Given the description of an element on the screen output the (x, y) to click on. 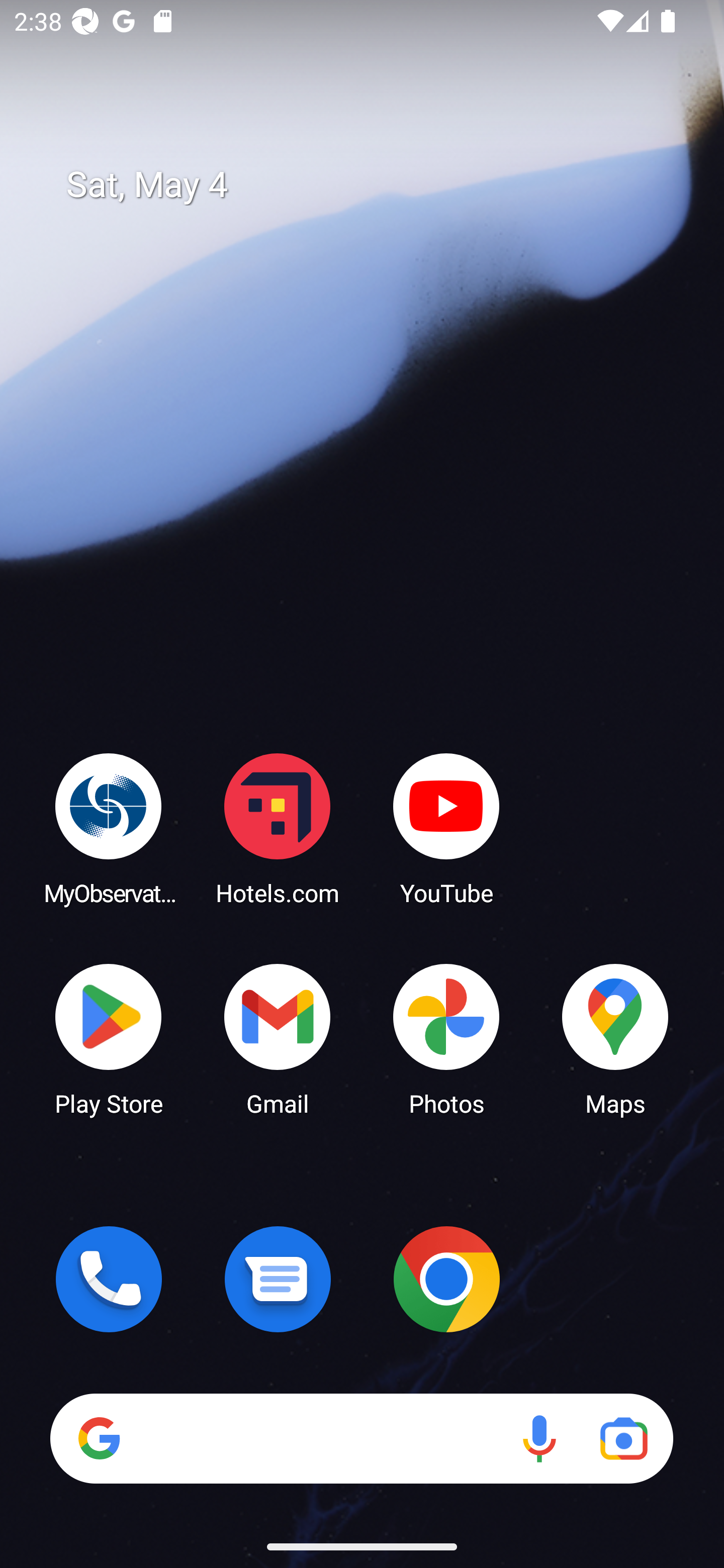
Sat, May 4 (375, 184)
MyObservatory (108, 828)
Hotels.com (277, 828)
YouTube (445, 828)
Play Store (108, 1038)
Gmail (277, 1038)
Photos (445, 1038)
Maps (615, 1038)
Phone (108, 1279)
Messages (277, 1279)
Chrome (446, 1279)
Search Voice search Google Lens (361, 1438)
Voice search (539, 1438)
Google Lens (623, 1438)
